Given the description of an element on the screen output the (x, y) to click on. 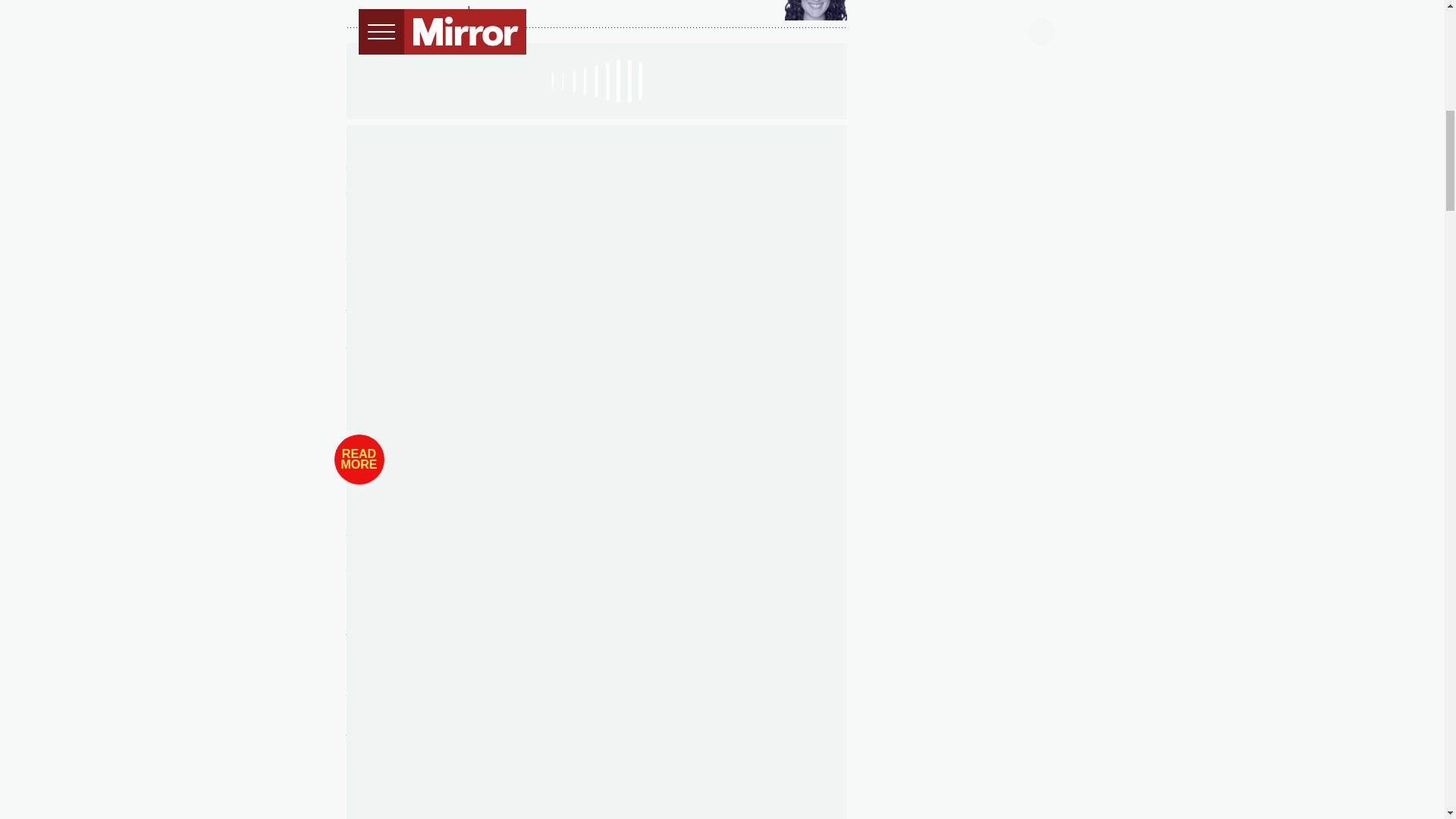
Comments (488, 11)
Facebook (357, 11)
Whatsapp (417, 11)
Twitter (386, 11)
